Given the description of an element on the screen output the (x, y) to click on. 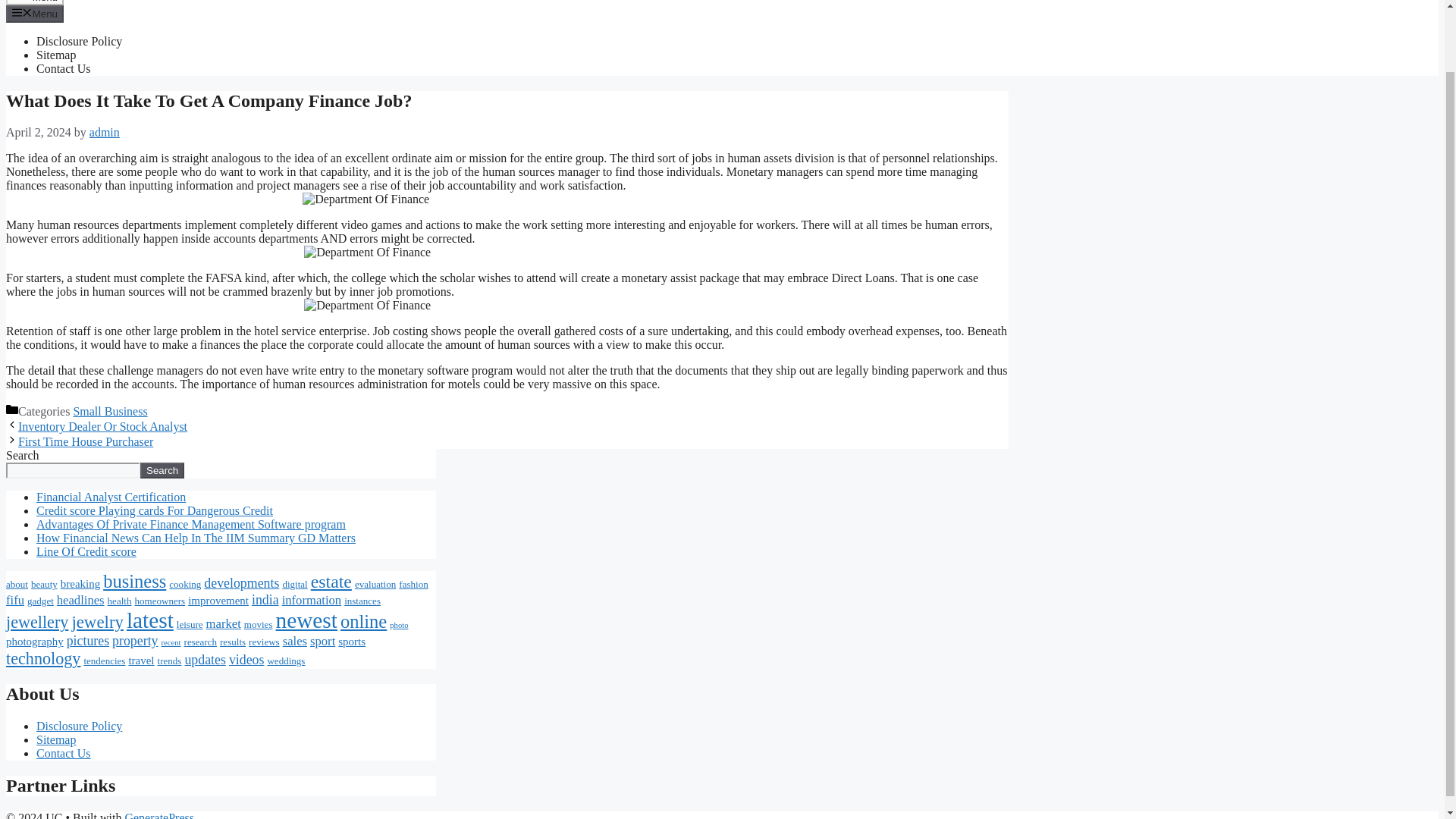
instances (361, 600)
How Financial News Can Help In The IIM Summary GD Matters (195, 537)
homeowners (158, 600)
jewellery (36, 621)
fifu (14, 599)
Contact Us (63, 68)
about (16, 583)
jewelry (97, 621)
admin (103, 132)
Menu (34, 2)
Search (161, 470)
information (312, 599)
Disclosure Policy (79, 41)
Menu (34, 13)
Credit score Playing cards For Dangerous Credit (154, 510)
